Given the description of an element on the screen output the (x, y) to click on. 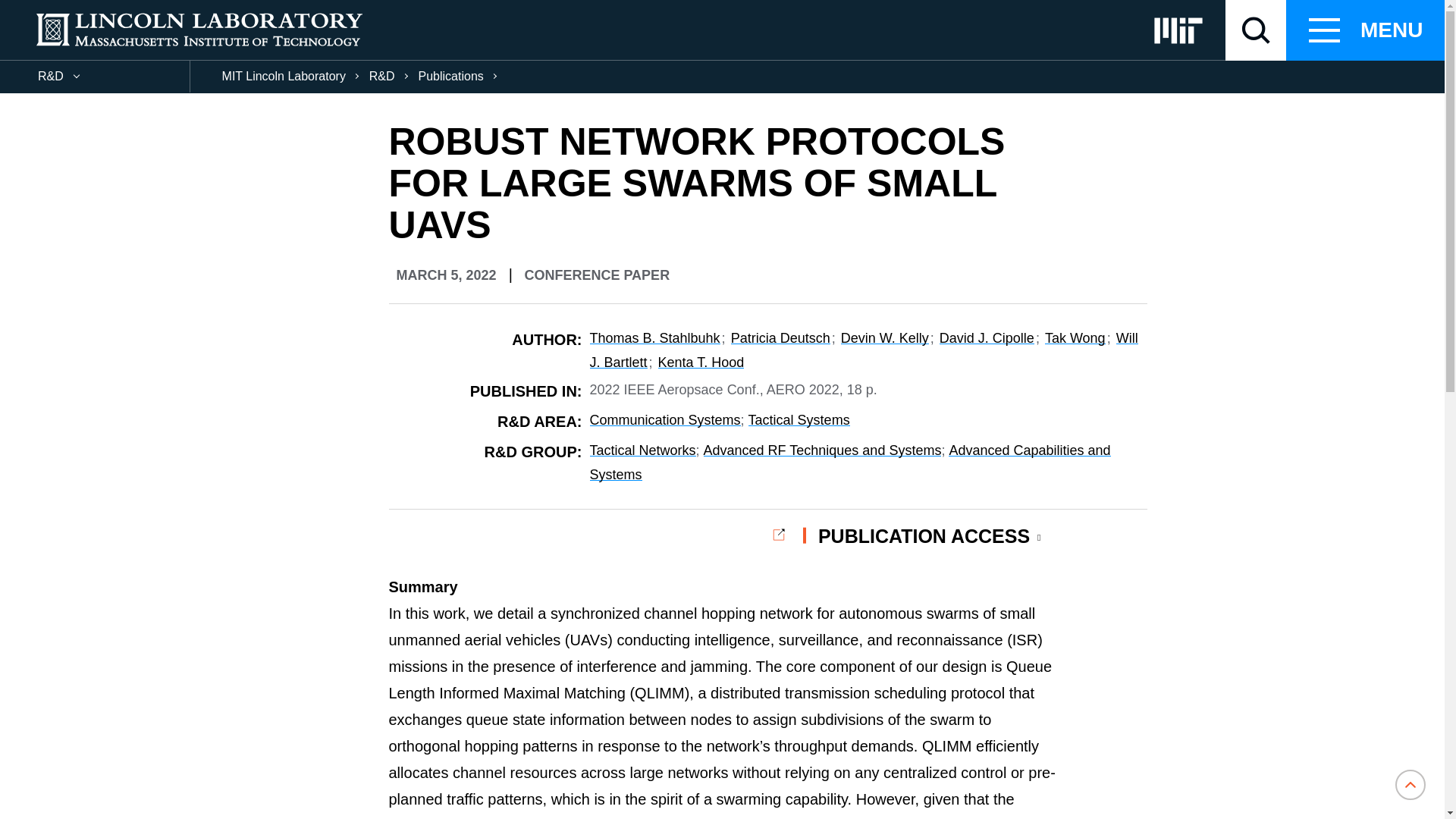
Toggle search form (1255, 30)
Search (29, 11)
